Given the description of an element on the screen output the (x, y) to click on. 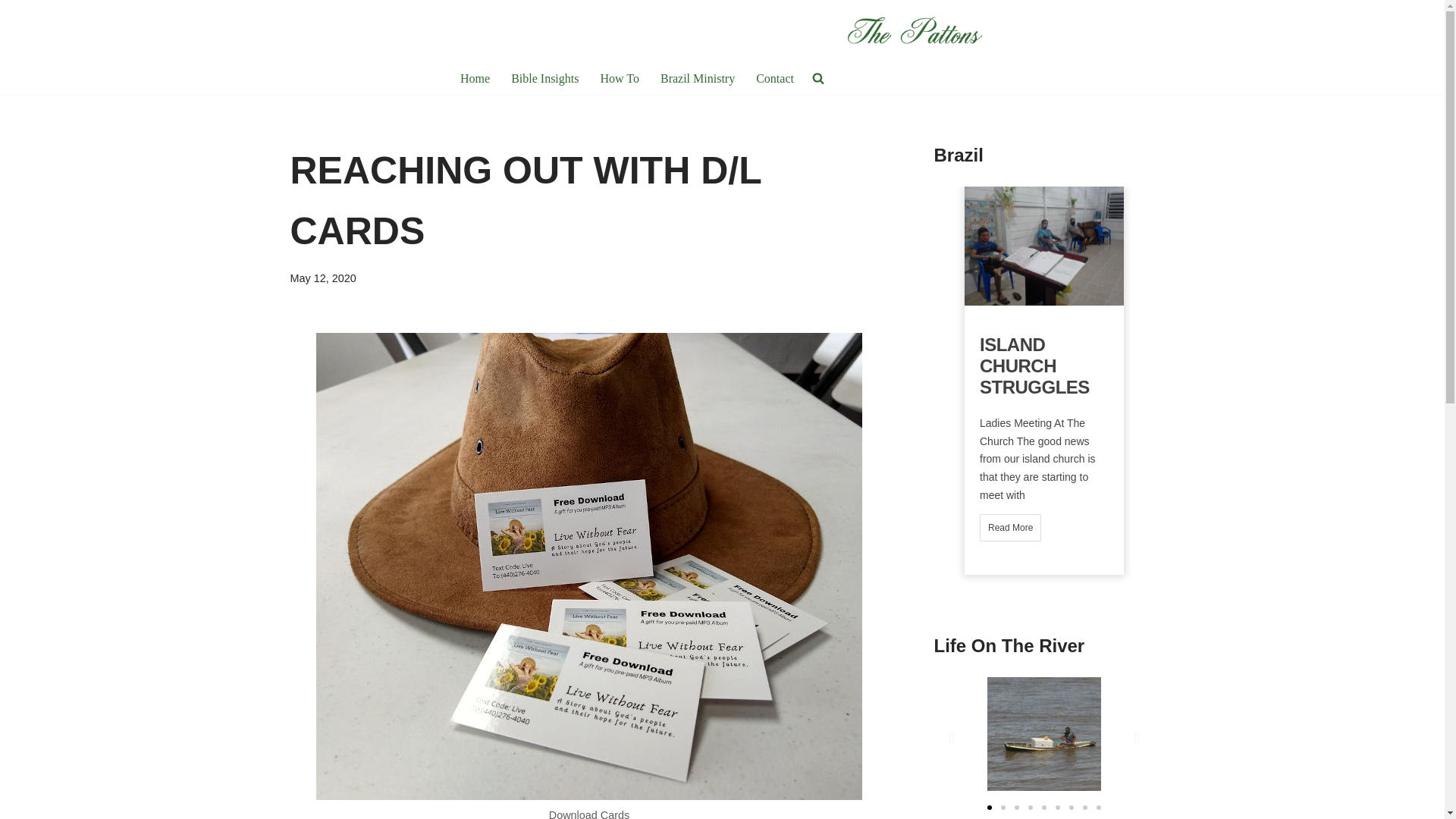
Contact (774, 77)
Brazil Ministry (698, 77)
Skip to content (11, 31)
How To (619, 77)
Bible Insights (544, 77)
Home (474, 77)
